Given the description of an element on the screen output the (x, y) to click on. 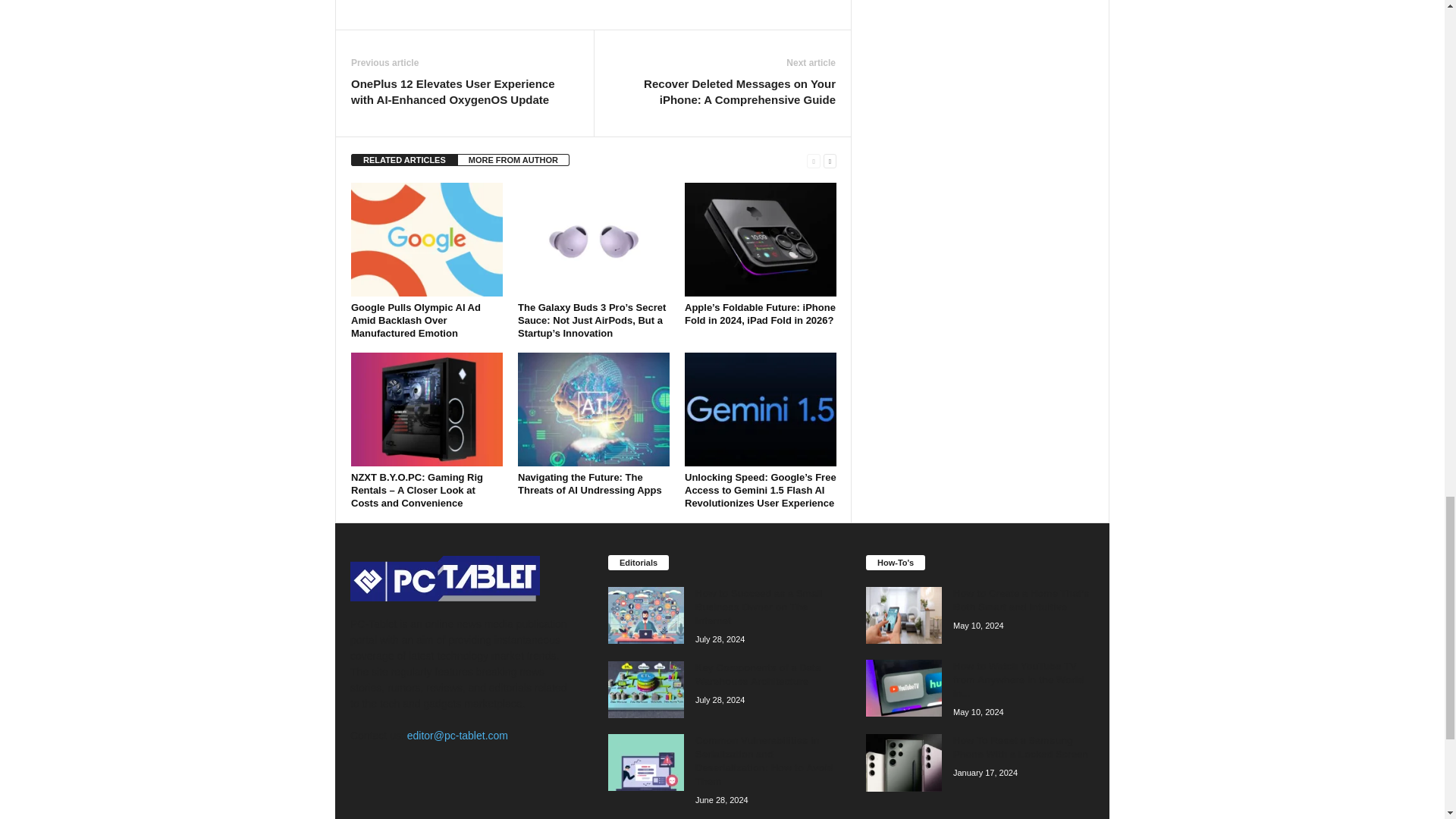
RELATED ARTICLES (404, 159)
MORE FROM AUTHOR (513, 159)
